Given the description of an element on the screen output the (x, y) to click on. 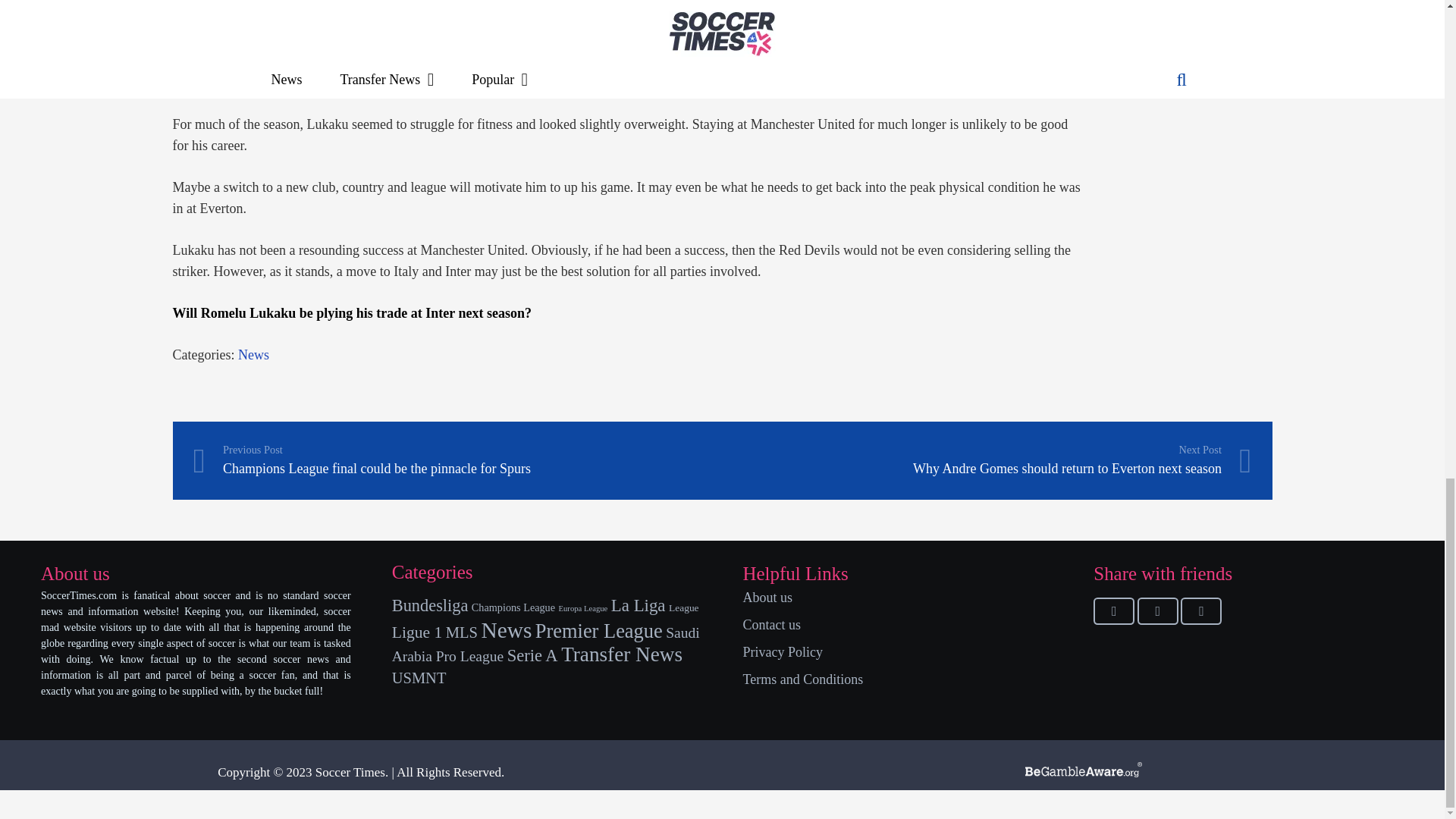
Why Andre Gomes should return to Everton next season (986, 460)
Tweet this (1157, 610)
News (253, 354)
Share this (1200, 610)
Share this (1113, 610)
Champions League final could be the pinnacle for Spurs (457, 460)
